Given the description of an element on the screen output the (x, y) to click on. 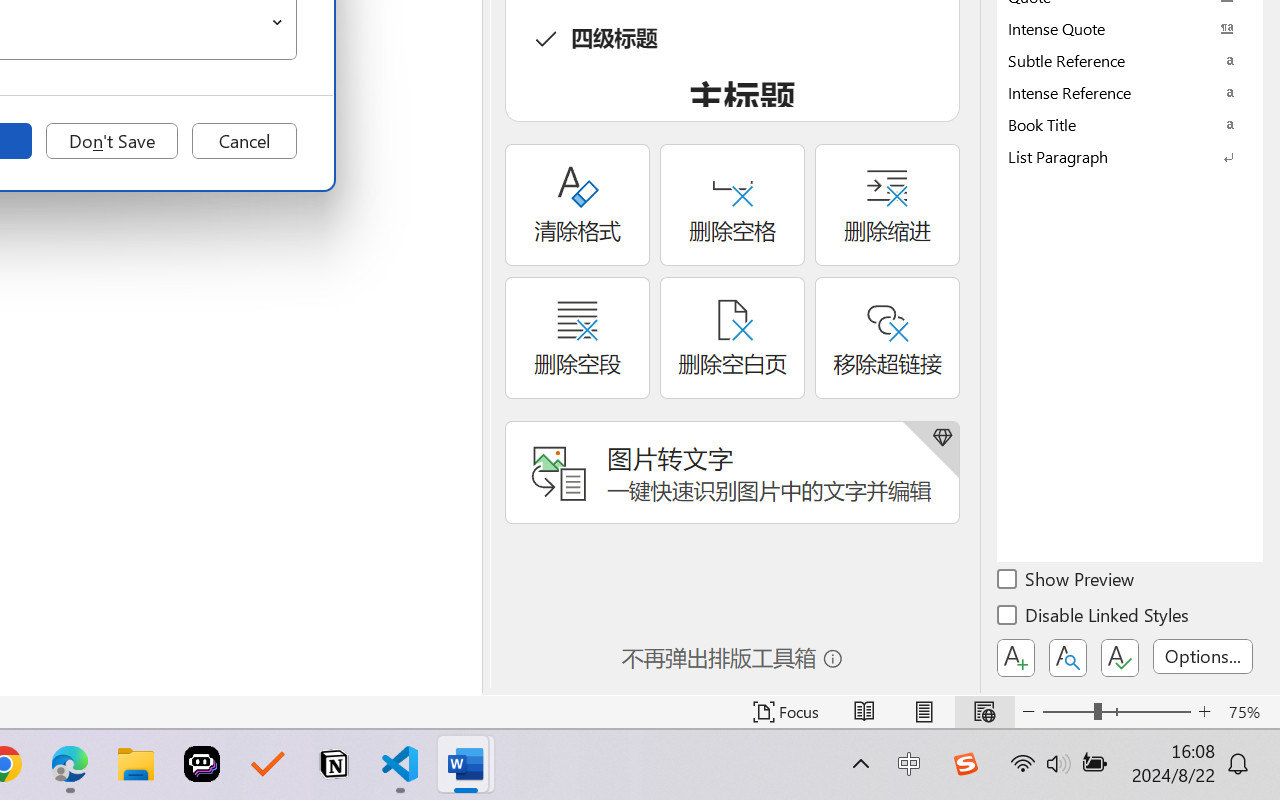
Zoom Out (1067, 712)
Don't Save (111, 141)
Cancel (244, 141)
